Given the description of an element on the screen output the (x, y) to click on. 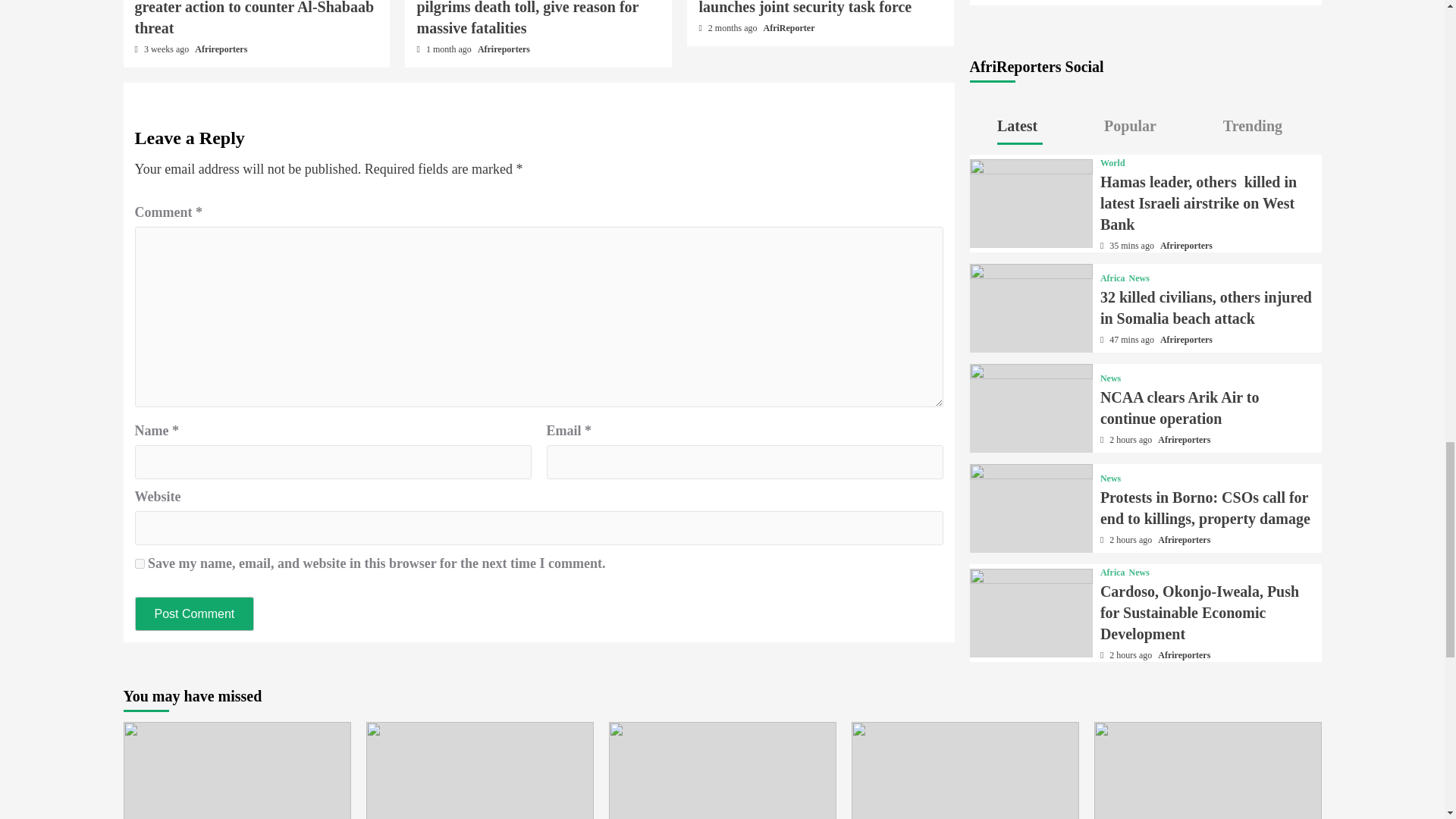
2 months ago (733, 27)
1 month ago (450, 49)
Afrireporters (503, 49)
Post Comment (194, 613)
3 weeks ago (167, 49)
yes (139, 563)
Afrireporters (221, 49)
